Given the description of an element on the screen output the (x, y) to click on. 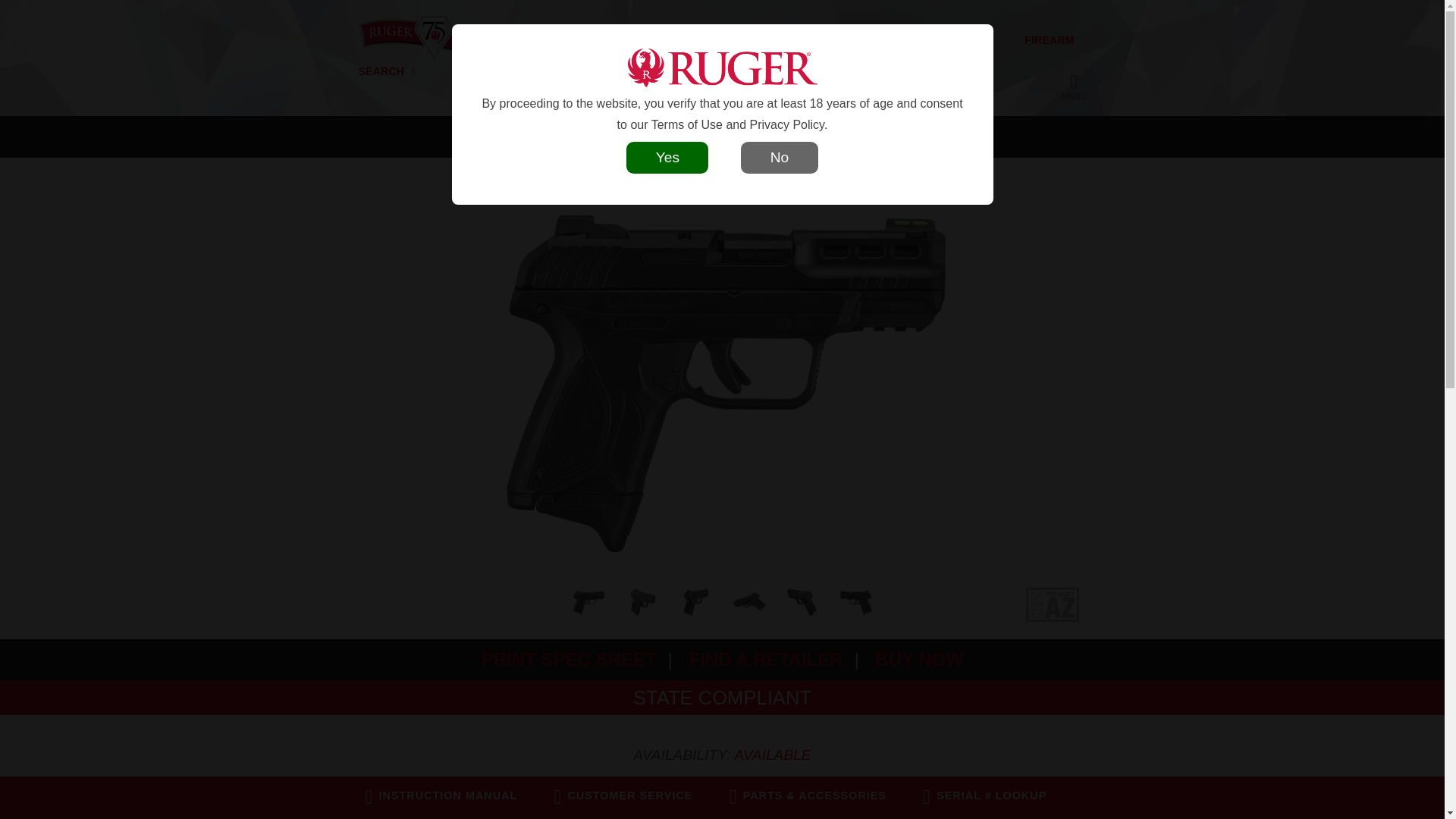
PISTOLS (556, 40)
